Given the description of an element on the screen output the (x, y) to click on. 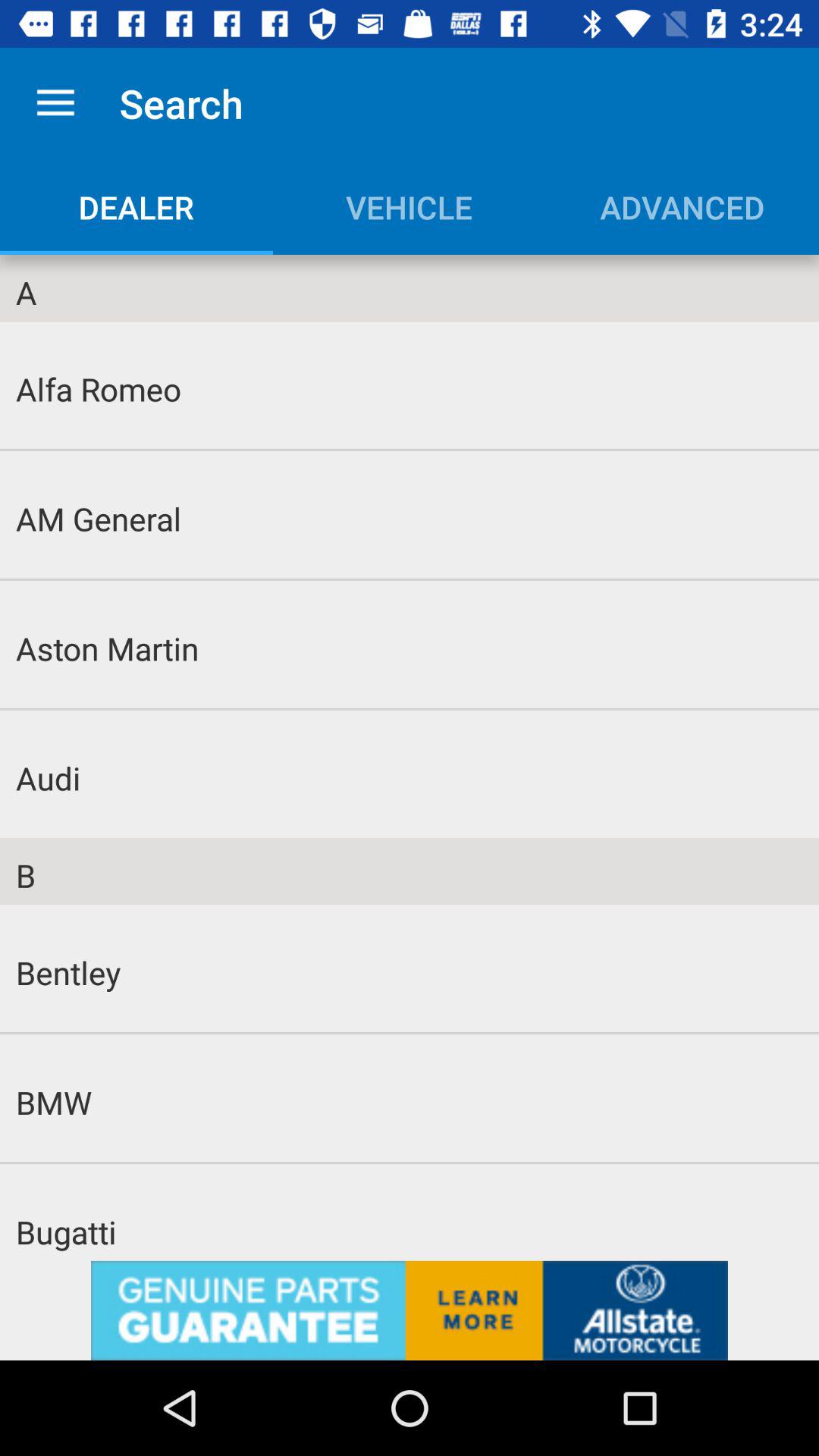
click the icon next to search (55, 103)
